Given the description of an element on the screen output the (x, y) to click on. 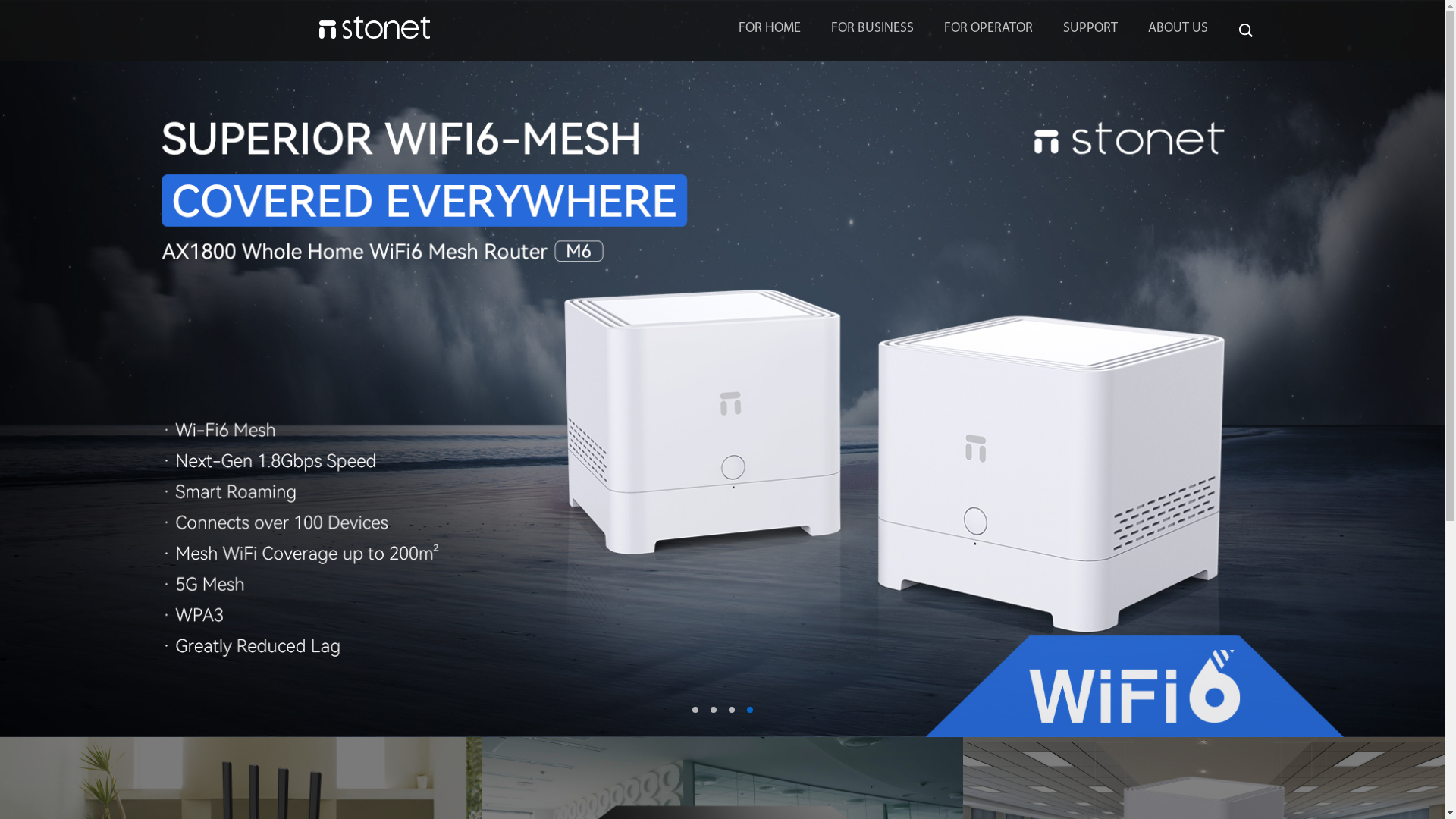
ABOUT US Element type: text (1178, 28)
FOR OPERATOR Element type: text (987, 28)
FOR BUSINESS Element type: text (872, 28)
FOR HOME Element type: text (769, 28)
SUPPORT Element type: text (1090, 28)
